Given the description of an element on the screen output the (x, y) to click on. 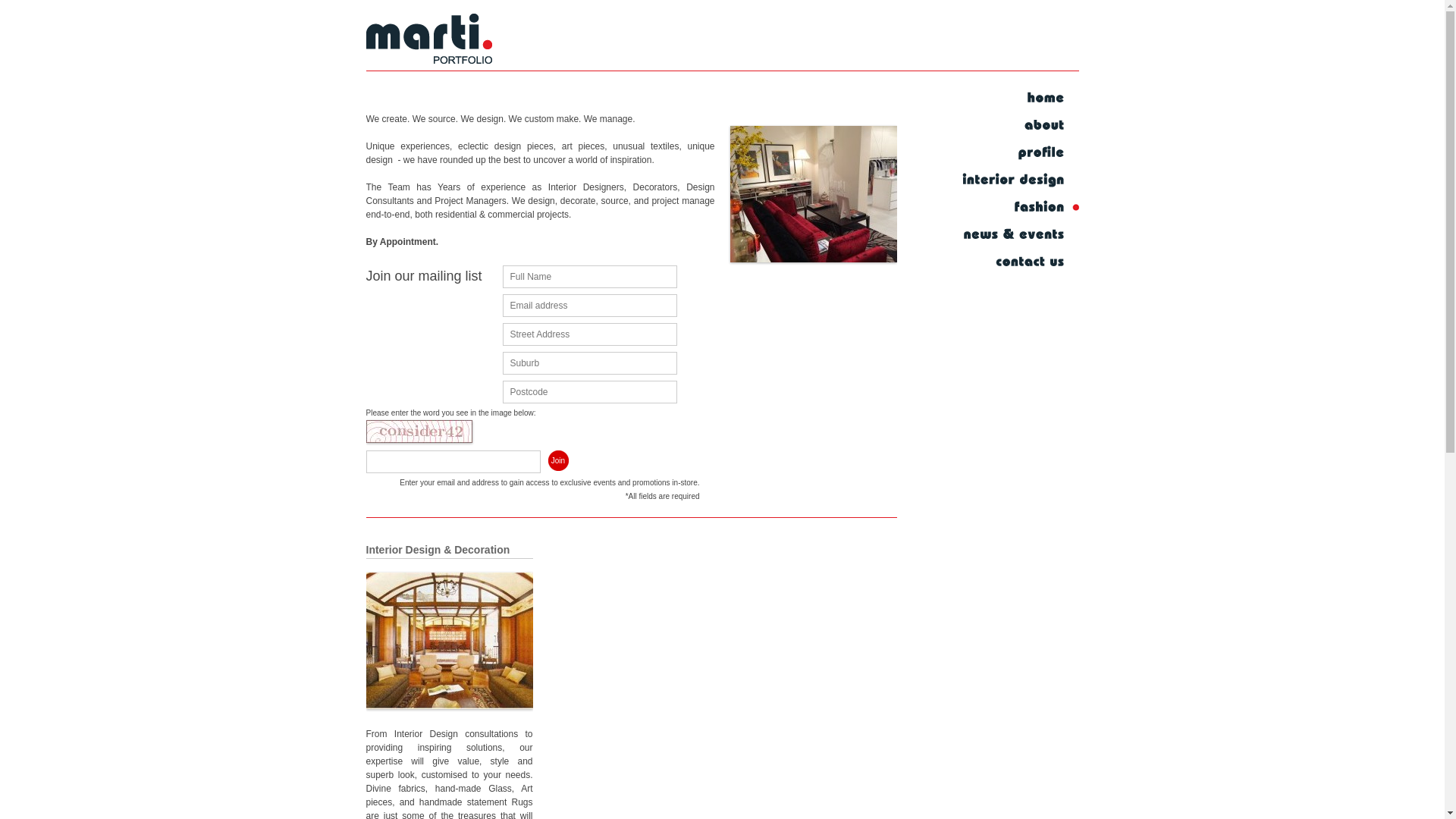
Interior Design & Decoration Element type: text (437, 549)
Join Element type: text (557, 460)
  Element type: text (1017, 125)
  Element type: text (1017, 98)
  Element type: text (1017, 180)
  Element type: text (1017, 207)
  Element type: text (1017, 152)
Marti Portfolio Element type: hover (428, 41)
  Element type: text (1017, 262)
  Element type: text (1017, 234)
Marti Portfolio Element type: hover (812, 193)
